Given the description of an element on the screen output the (x, y) to click on. 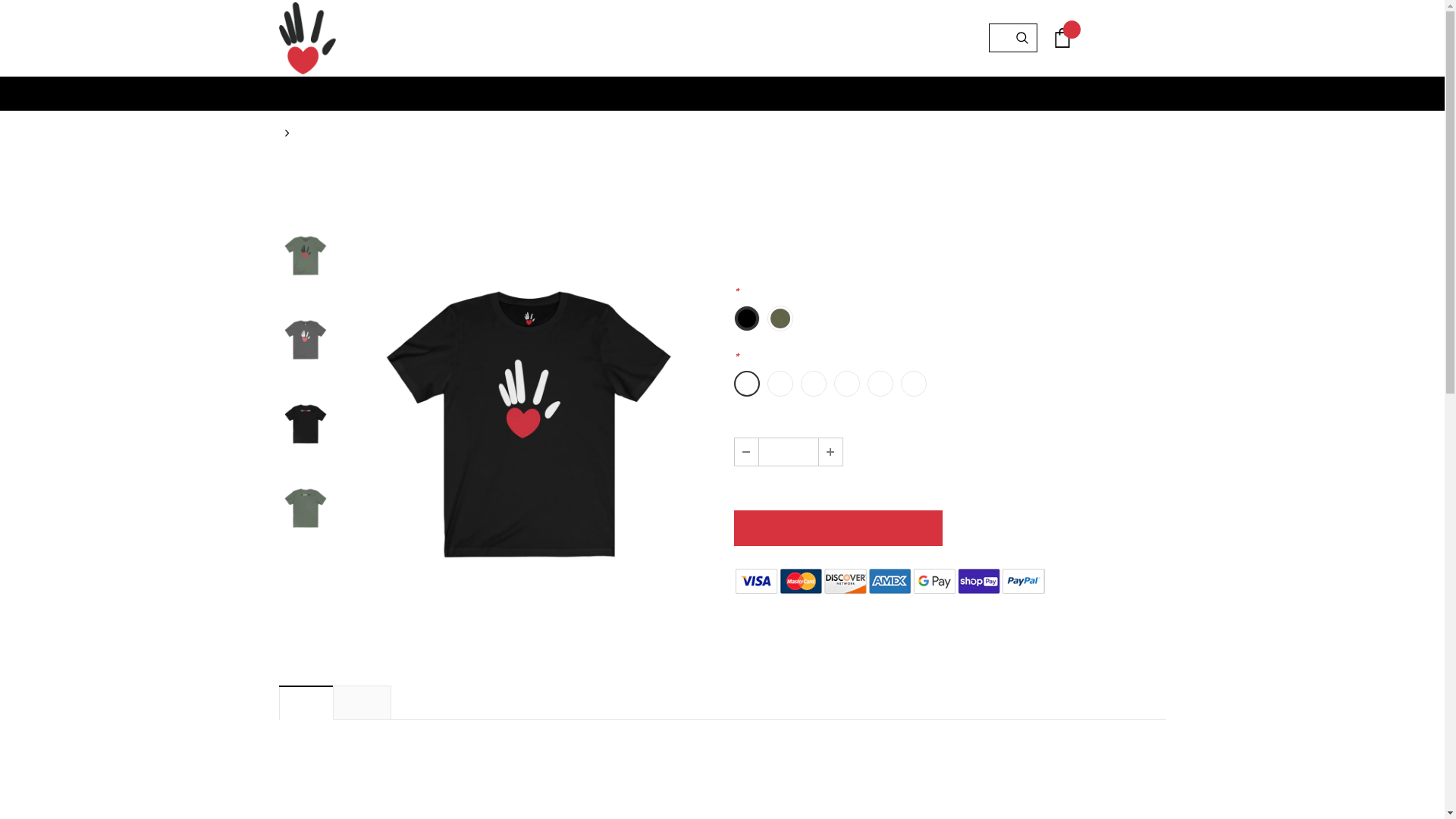
0 Element type: text (1062, 37)
HOME Element type: text (671, 93)
Add to Cart Element type: text (838, 528)
CONTACT US Element type: text (771, 93)
SHOP Element type: text (703, 93)
CUSTOMER REVIEWS Element type: text (361, 701)
DESCRIPTION Element type: text (306, 701)
ABOUT US Element type: text (736, 93)
Logo Element type: hover (307, 38)
